Given the description of an element on the screen output the (x, y) to click on. 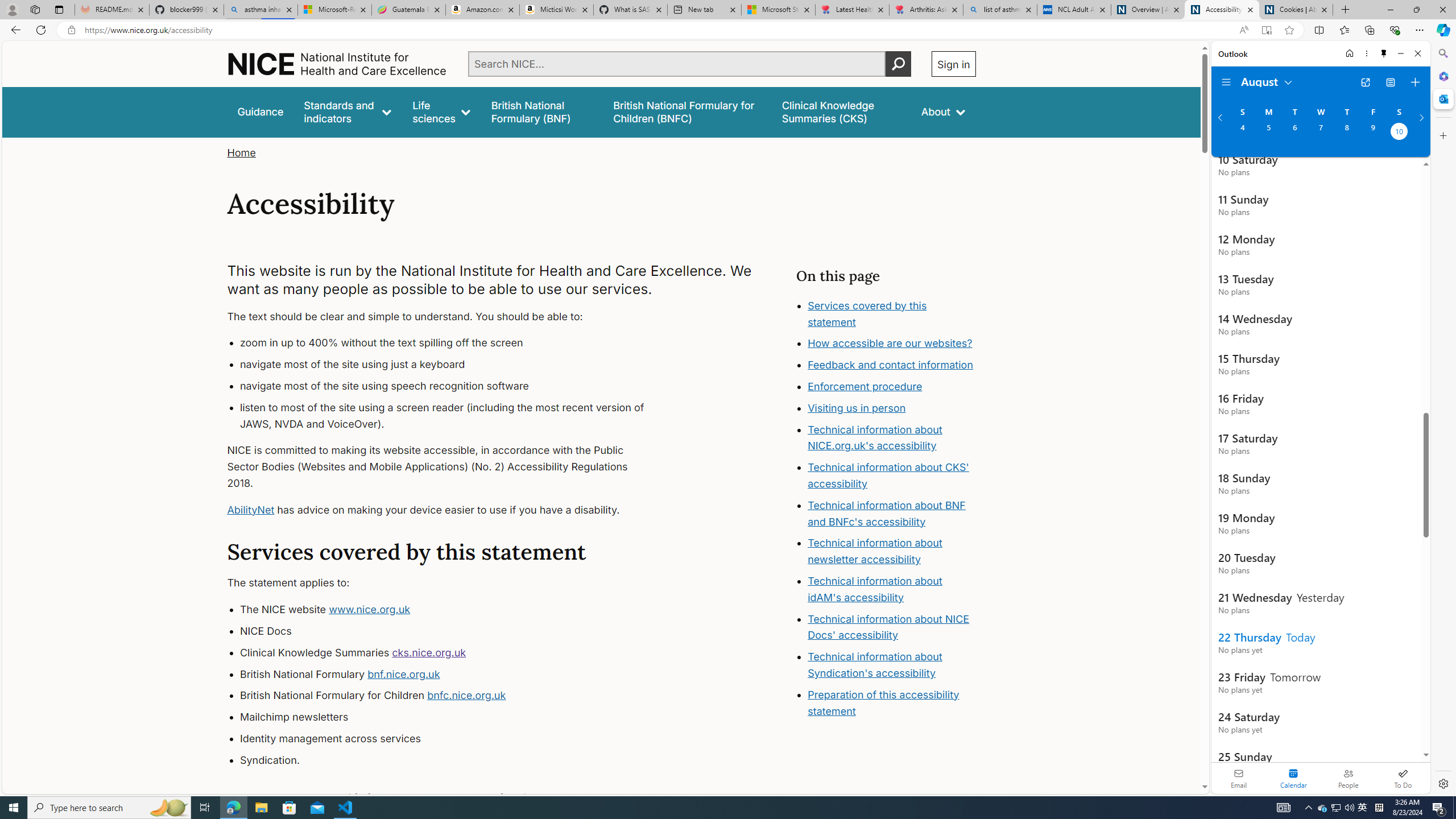
Life sciences (440, 111)
Feedback and contact information (891, 365)
The NICE website www.nice.org.uk (452, 609)
